Given the description of an element on the screen output the (x, y) to click on. 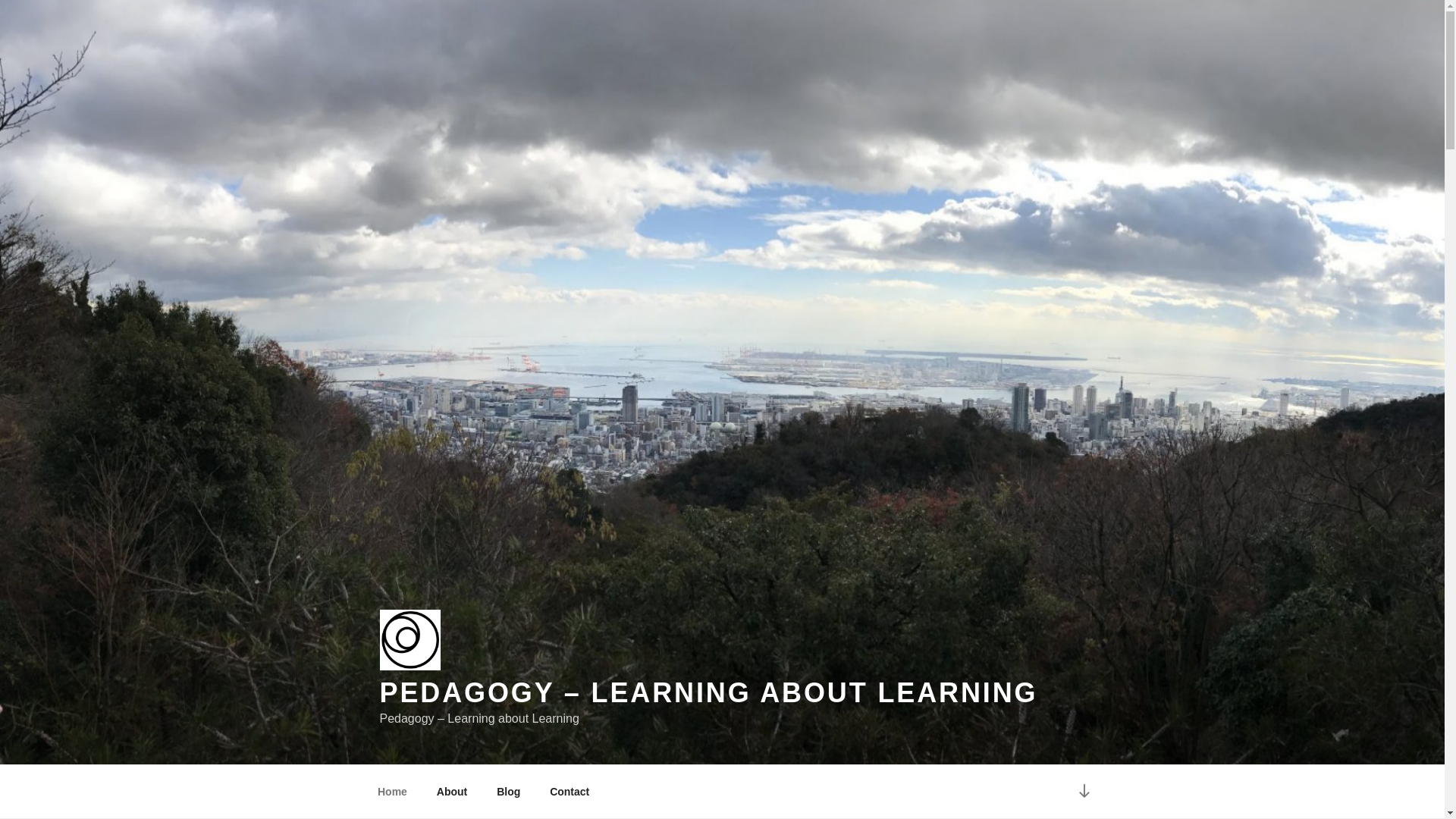
Blog (508, 791)
Contact (569, 791)
About (451, 791)
Scroll down to content (1082, 791)
Home (392, 791)
Scroll down to content (1082, 791)
